Given the description of an element on the screen output the (x, y) to click on. 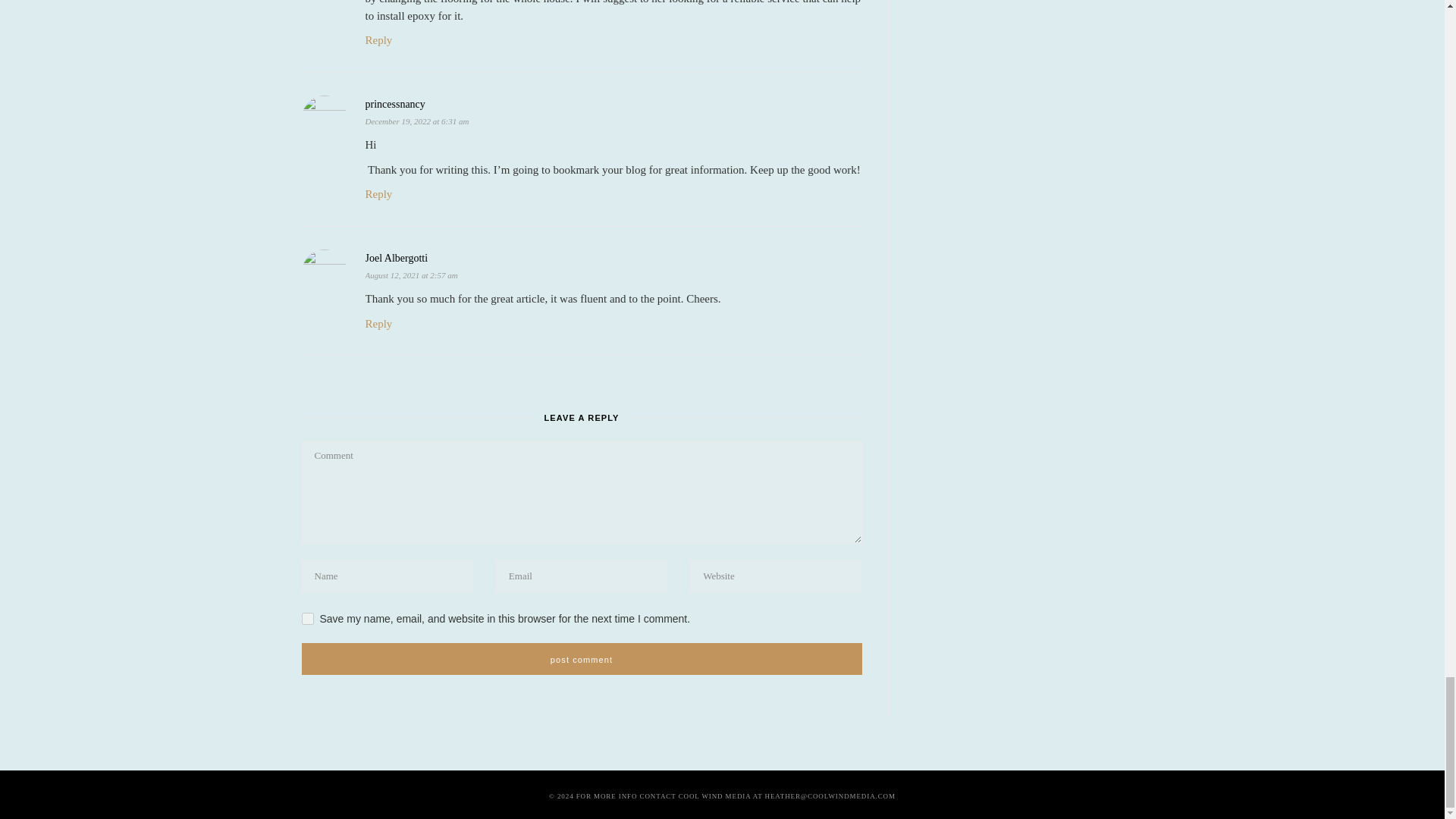
yes (307, 618)
Post Comment (581, 658)
